Given the description of an element on the screen output the (x, y) to click on. 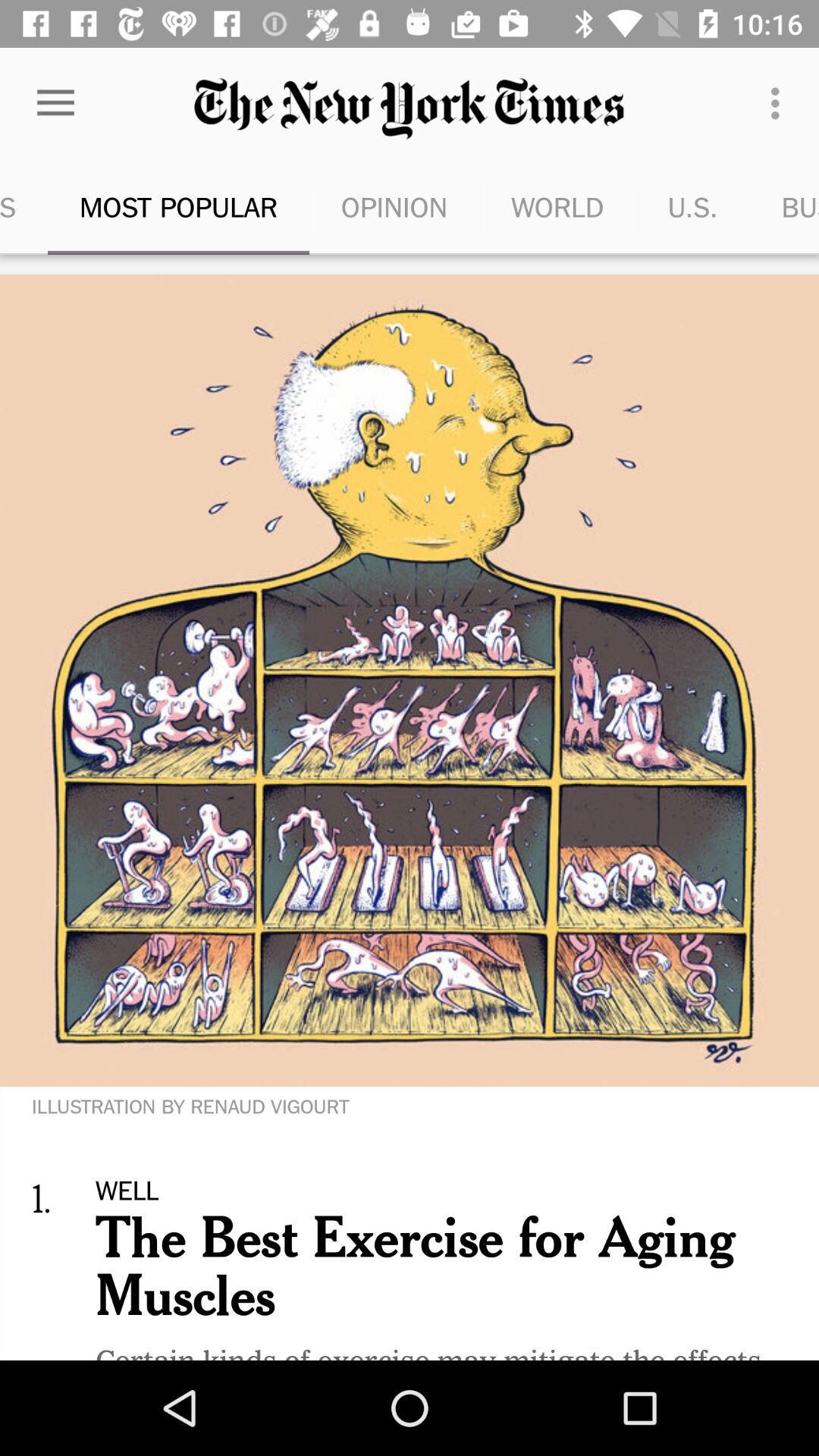
click top stories item (23, 206)
